Given the description of an element on the screen output the (x, y) to click on. 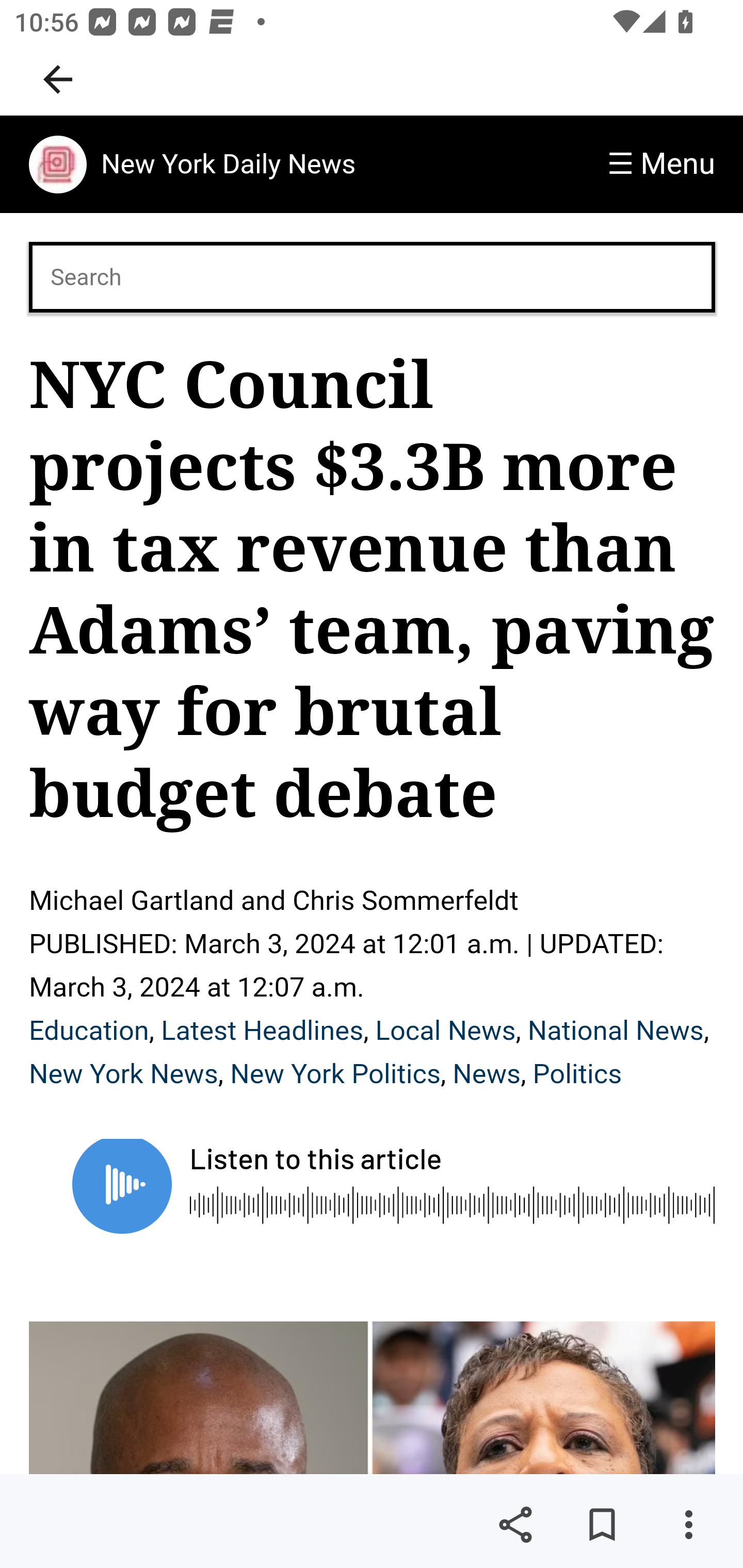
Navigate up (57, 79)
☰ Menu (661, 163)
Education (88, 1030)
Latest Headlines (262, 1030)
Local News (444, 1030)
National News (615, 1030)
New York News (123, 1073)
New York Politics (335, 1073)
News (486, 1073)
Politics (576, 1073)
Play (122, 1185)
Share (514, 1524)
Save for later (601, 1524)
More options (688, 1524)
